Given the description of an element on the screen output the (x, y) to click on. 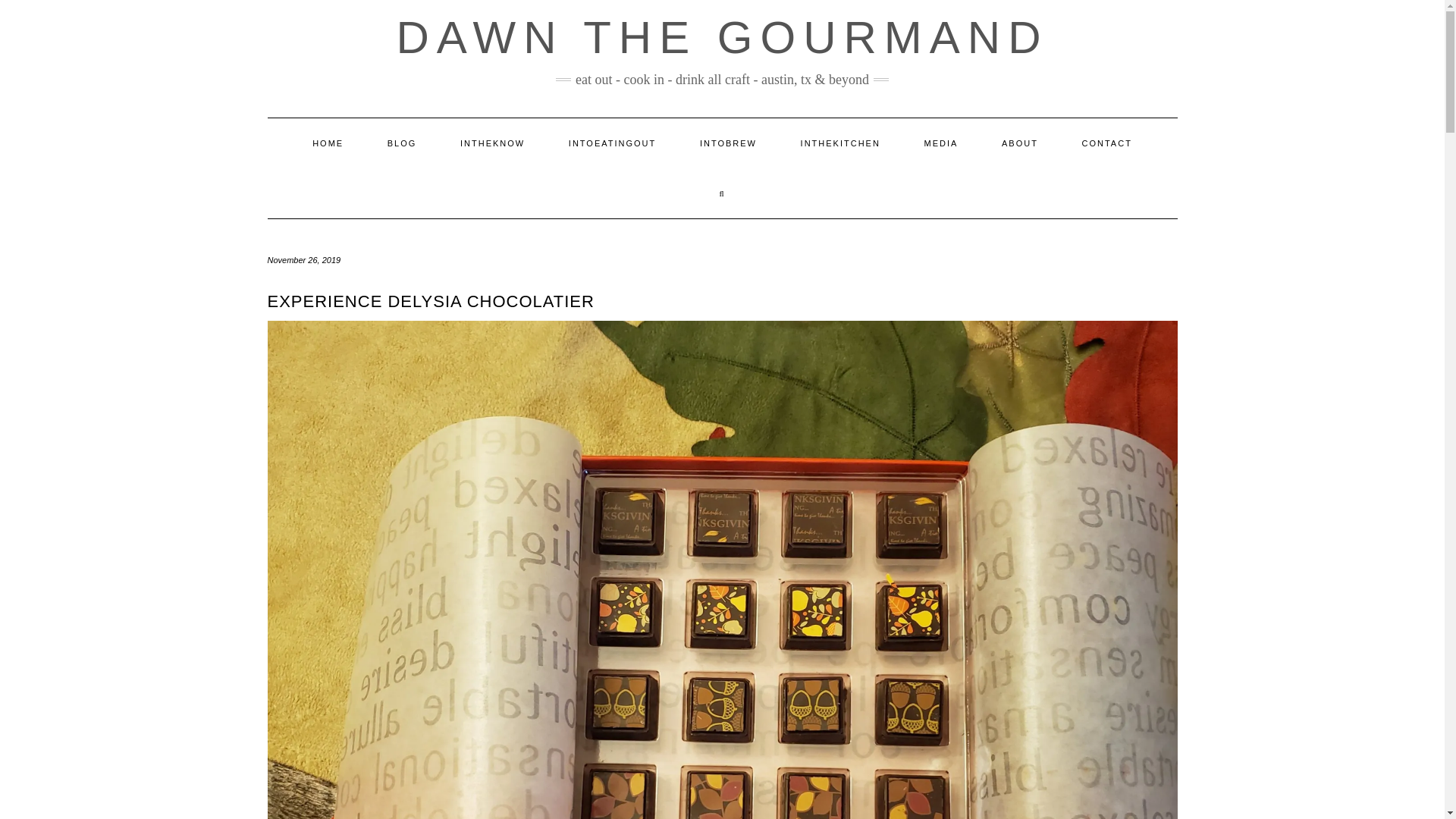
INTOBREW (728, 142)
DAWN THE GOURMAND (722, 37)
MEDIA (941, 142)
INTHEKNOW (491, 142)
ABOUT (1019, 142)
CONTACT (1107, 142)
BLOG (402, 142)
INTHEKITCHEN (840, 142)
HOME (328, 142)
INTOEATINGOUT (612, 142)
